Given the description of an element on the screen output the (x, y) to click on. 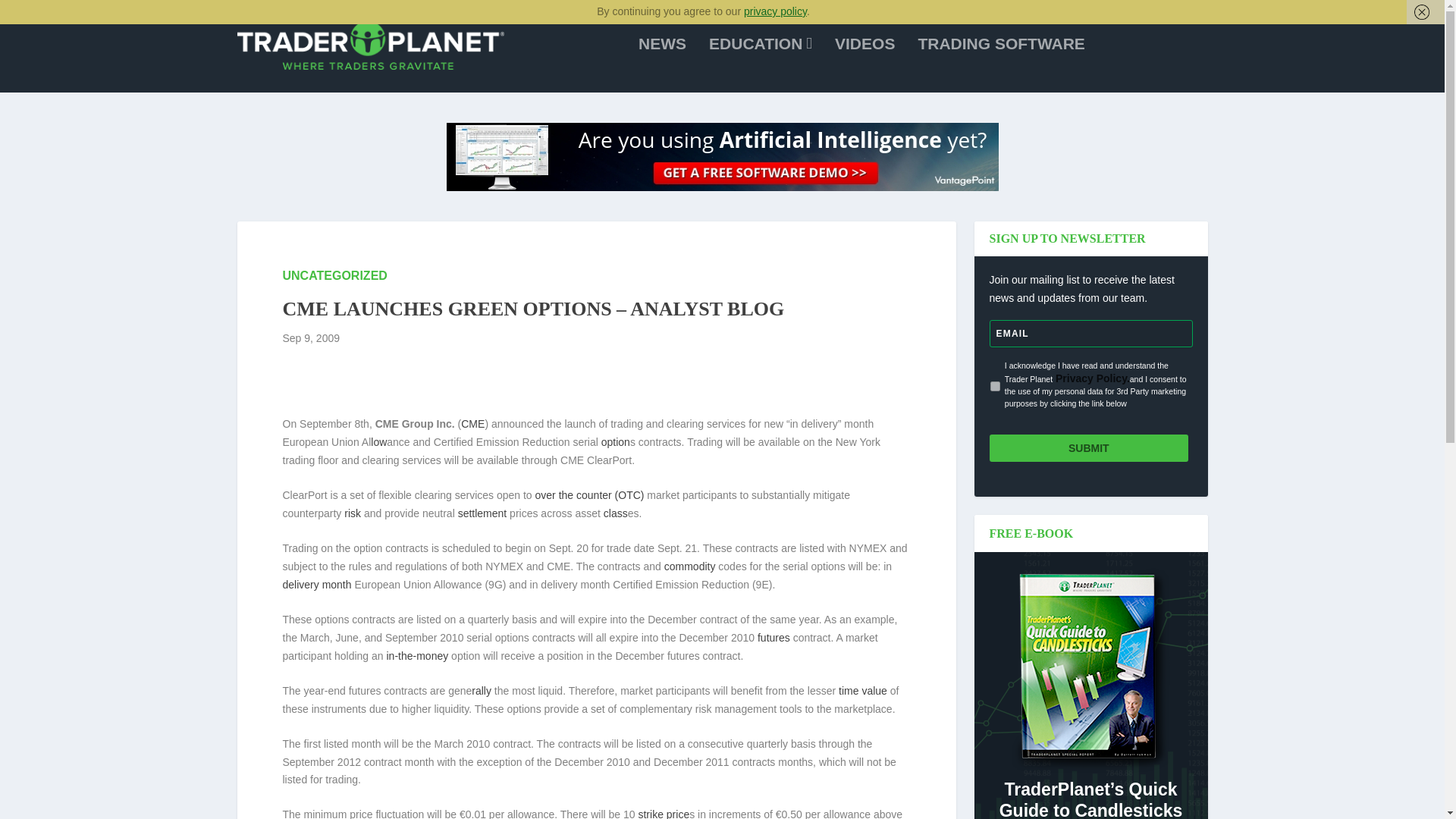
CME (472, 423)
Submit (1088, 447)
rally (481, 690)
VIDEOS (864, 64)
option (615, 441)
time value (862, 690)
in-the-money (417, 655)
EDUCATION (760, 64)
settlement (482, 512)
delivery month (316, 584)
strike price (662, 813)
risk (352, 512)
low (379, 441)
class (615, 512)
TRADING SOFTWARE (1000, 64)
